Given the description of an element on the screen output the (x, y) to click on. 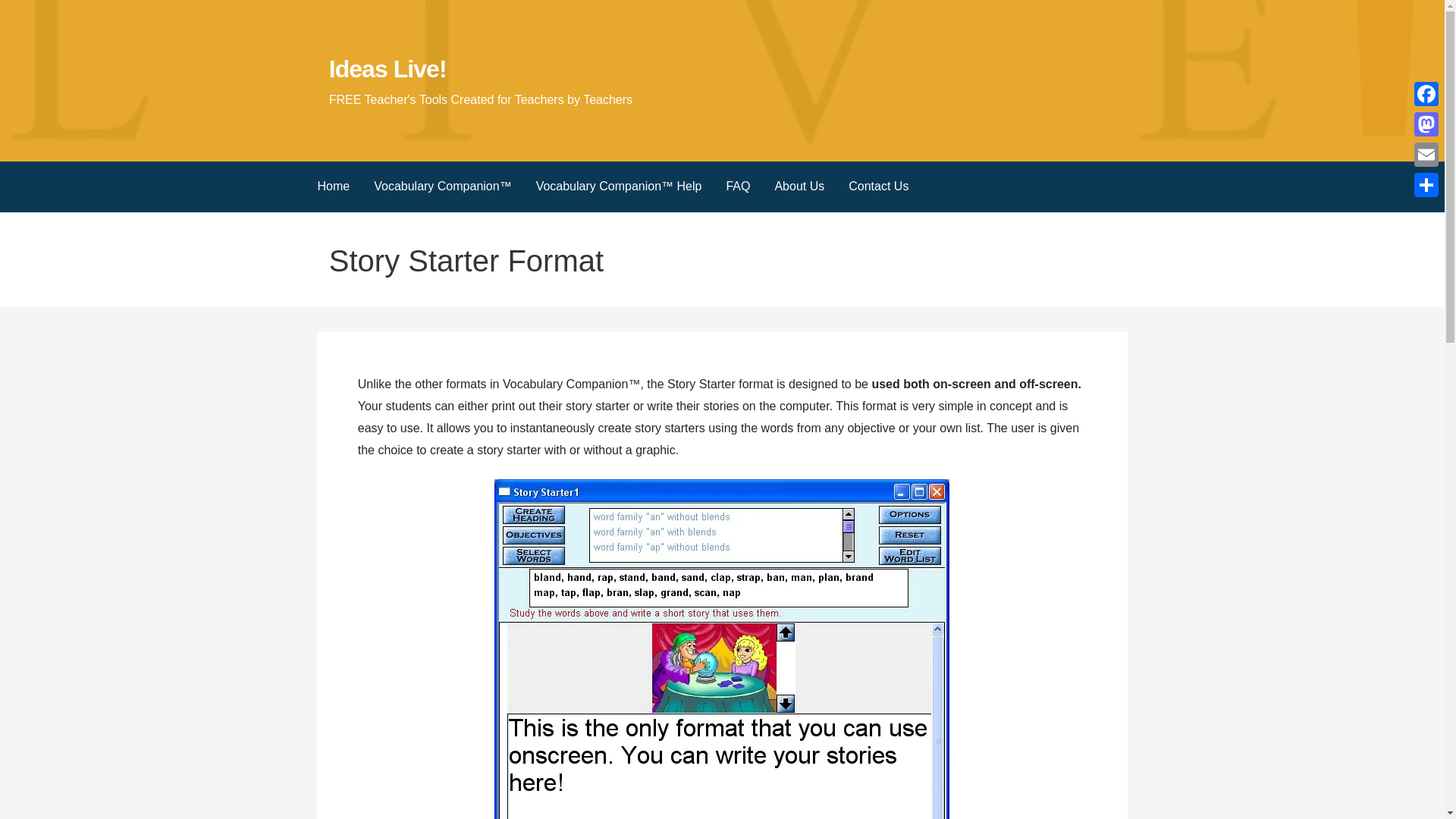
Mastodon (1425, 123)
Facebook (1425, 93)
Share (1425, 184)
Mastodon (1425, 123)
Email (1425, 154)
Ideas Live! (387, 68)
FAQ (737, 186)
Email (1425, 154)
Home (332, 186)
Facebook (1425, 93)
Contact Us (877, 186)
About Us (798, 186)
